Given the description of an element on the screen output the (x, y) to click on. 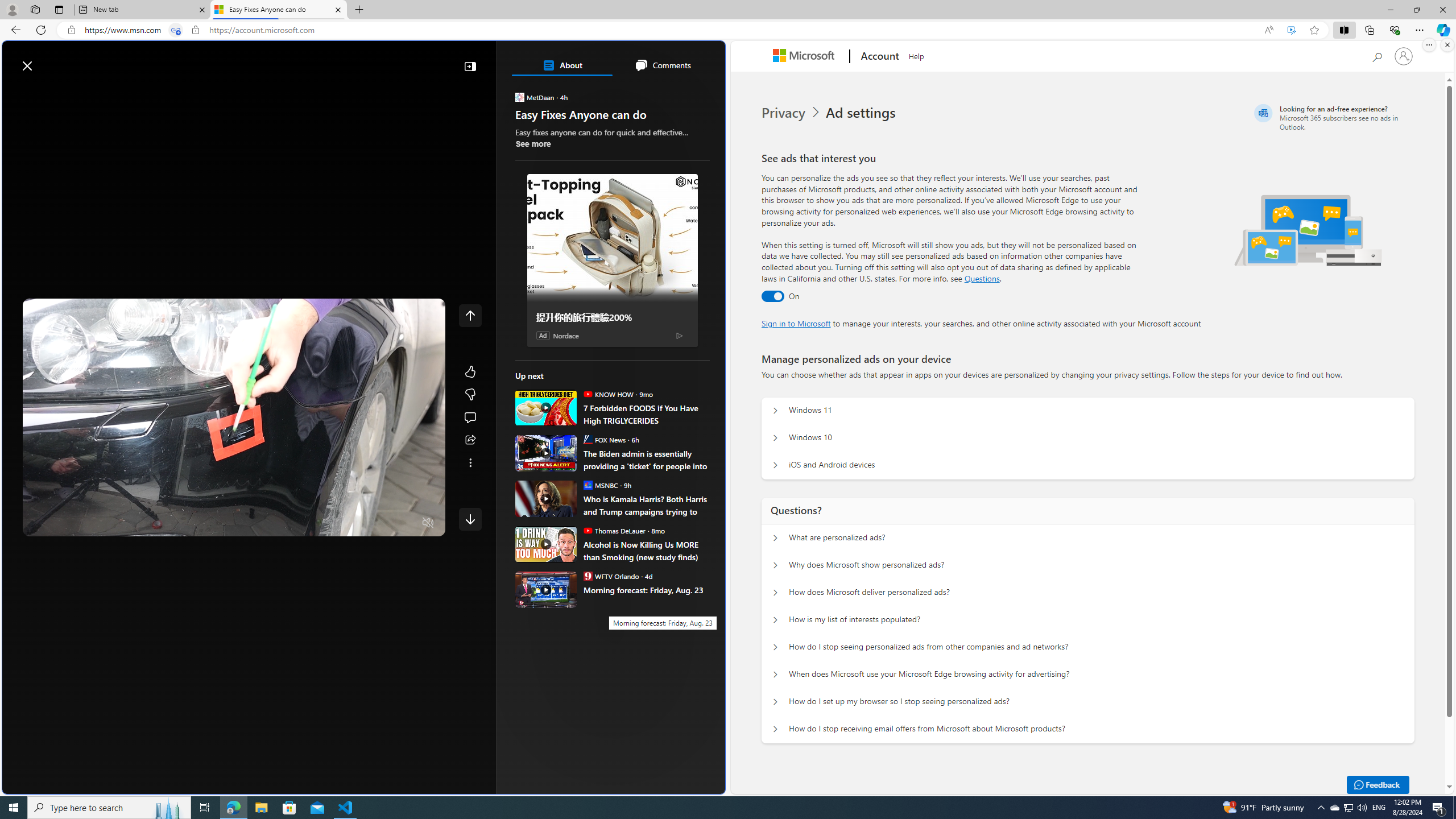
Manage personalized ads on your device Windows 11 (775, 410)
Privacy (792, 112)
WFTV Orlando WFTV Orlando (610, 575)
Morning forecast: Friday, Aug. 23 (646, 589)
Privacy (784, 112)
Seek Forward (85, 523)
Ad settings (862, 112)
